Given the description of an element on the screen output the (x, y) to click on. 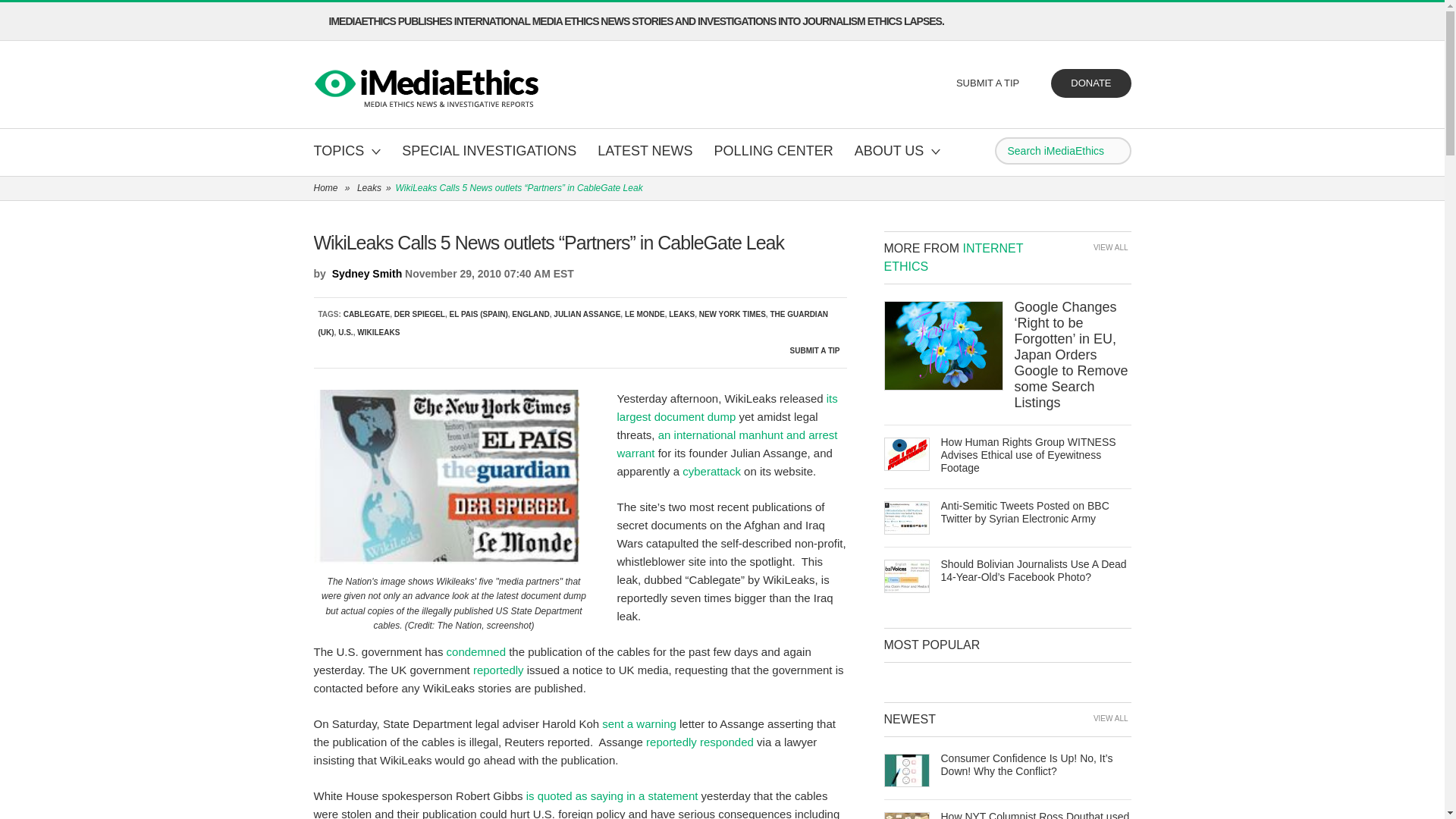
SUBMIT A TIP (988, 82)
DONATE (1091, 82)
iMediaEthics (428, 84)
TOPICS (347, 152)
Search (1116, 149)
iMediaEthics (428, 84)
